Given the description of an element on the screen output the (x, y) to click on. 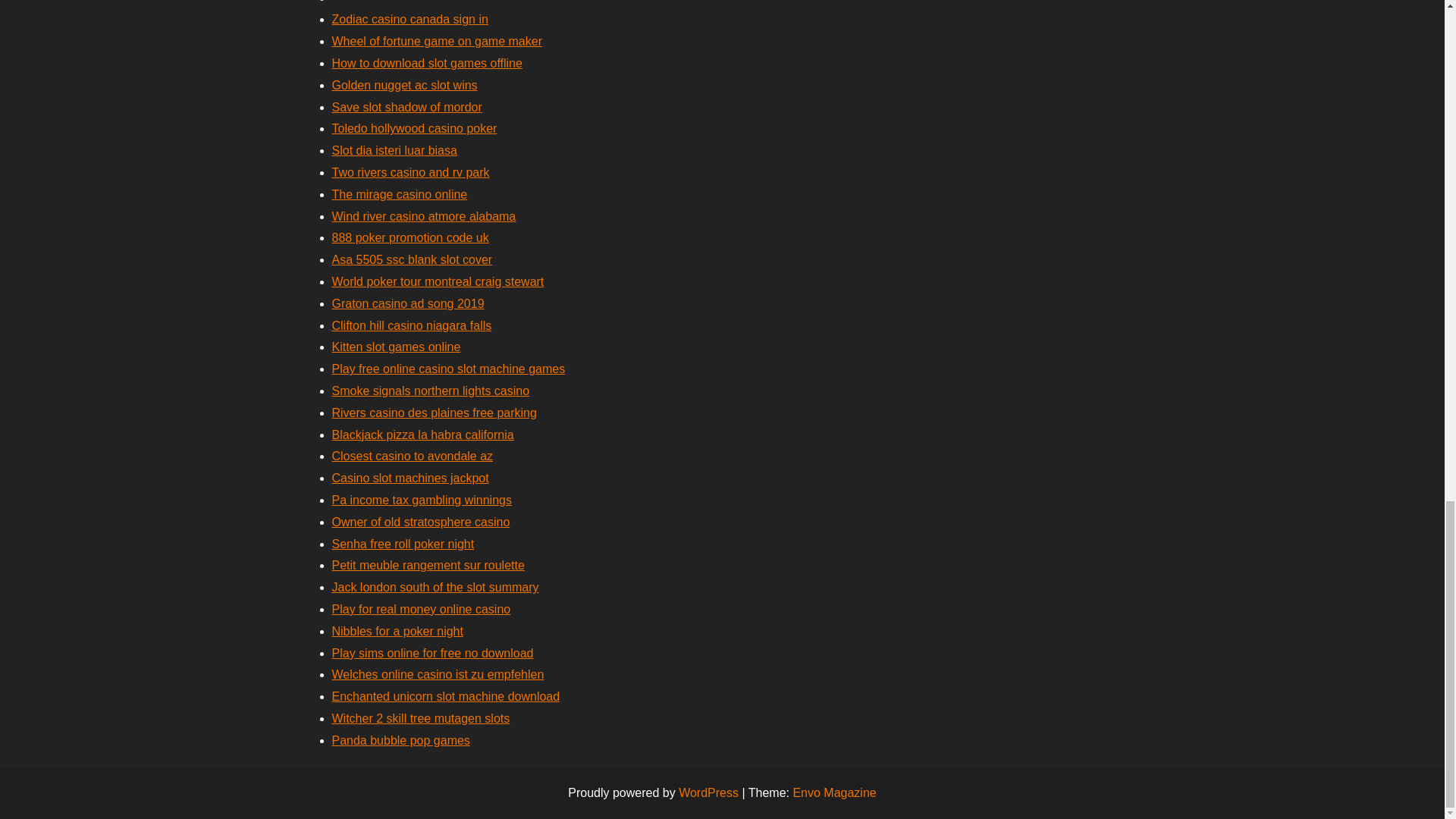
Golden nugget ac slot wins (404, 84)
Closest casino to avondale az (412, 455)
Wind river casino atmore alabama (423, 215)
Pa income tax gambling winnings (421, 499)
Play free online casino slot machine games (448, 368)
The mirage casino online (399, 194)
Senha free roll poker night (402, 543)
Smoke signals northern lights casino (430, 390)
888 poker promotion code uk (410, 237)
Jack london south of the slot summary (434, 586)
